Given the description of an element on the screen output the (x, y) to click on. 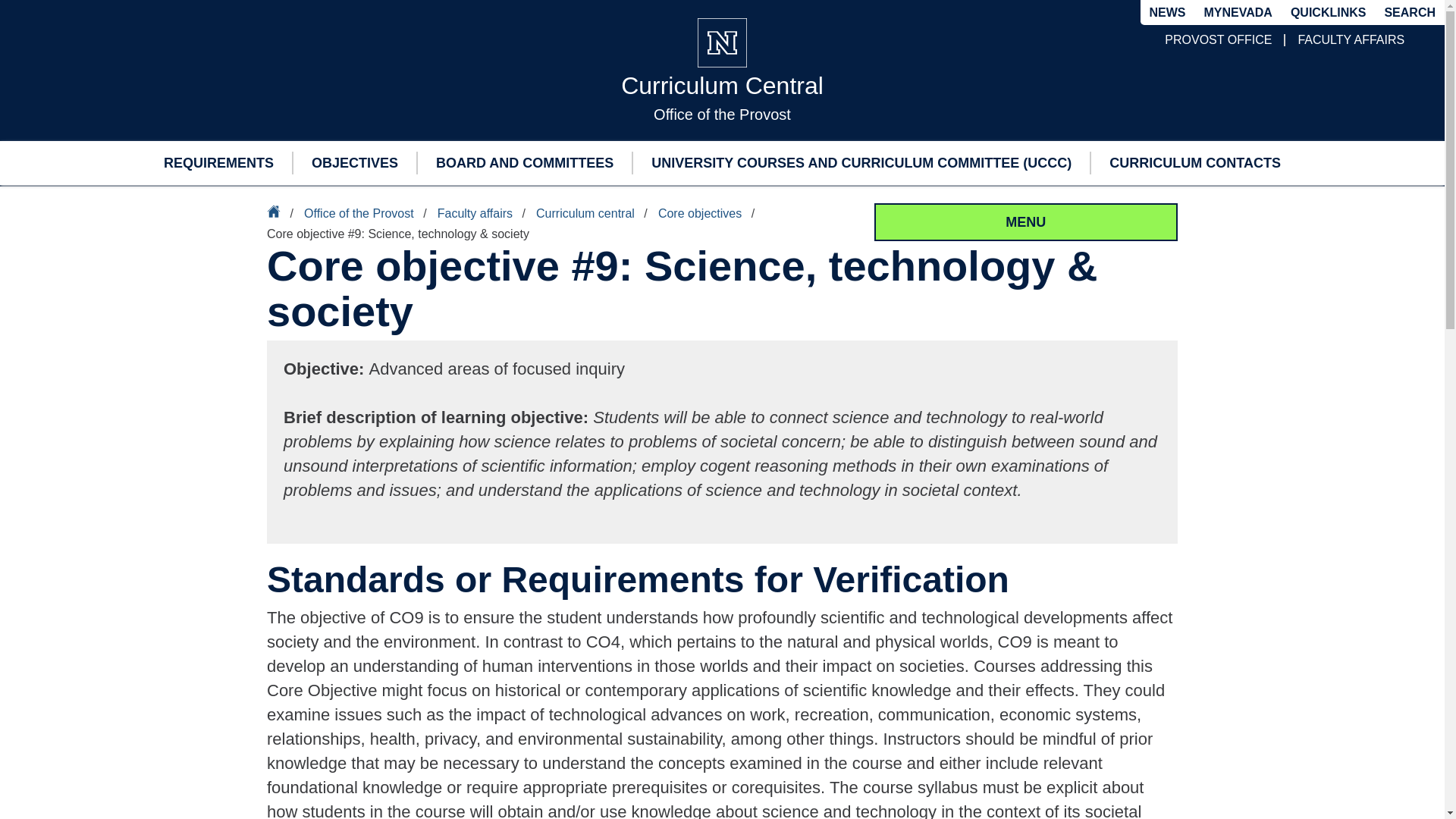
NEWS (1168, 13)
QUICKLINKS (1328, 12)
PROVOST OFFICE (1218, 39)
FACULTY AFFAIRS (1350, 39)
MYNEVADA (1238, 13)
SEARCH (1409, 12)
REQUIREMENTS (218, 162)
